Given the description of an element on the screen output the (x, y) to click on. 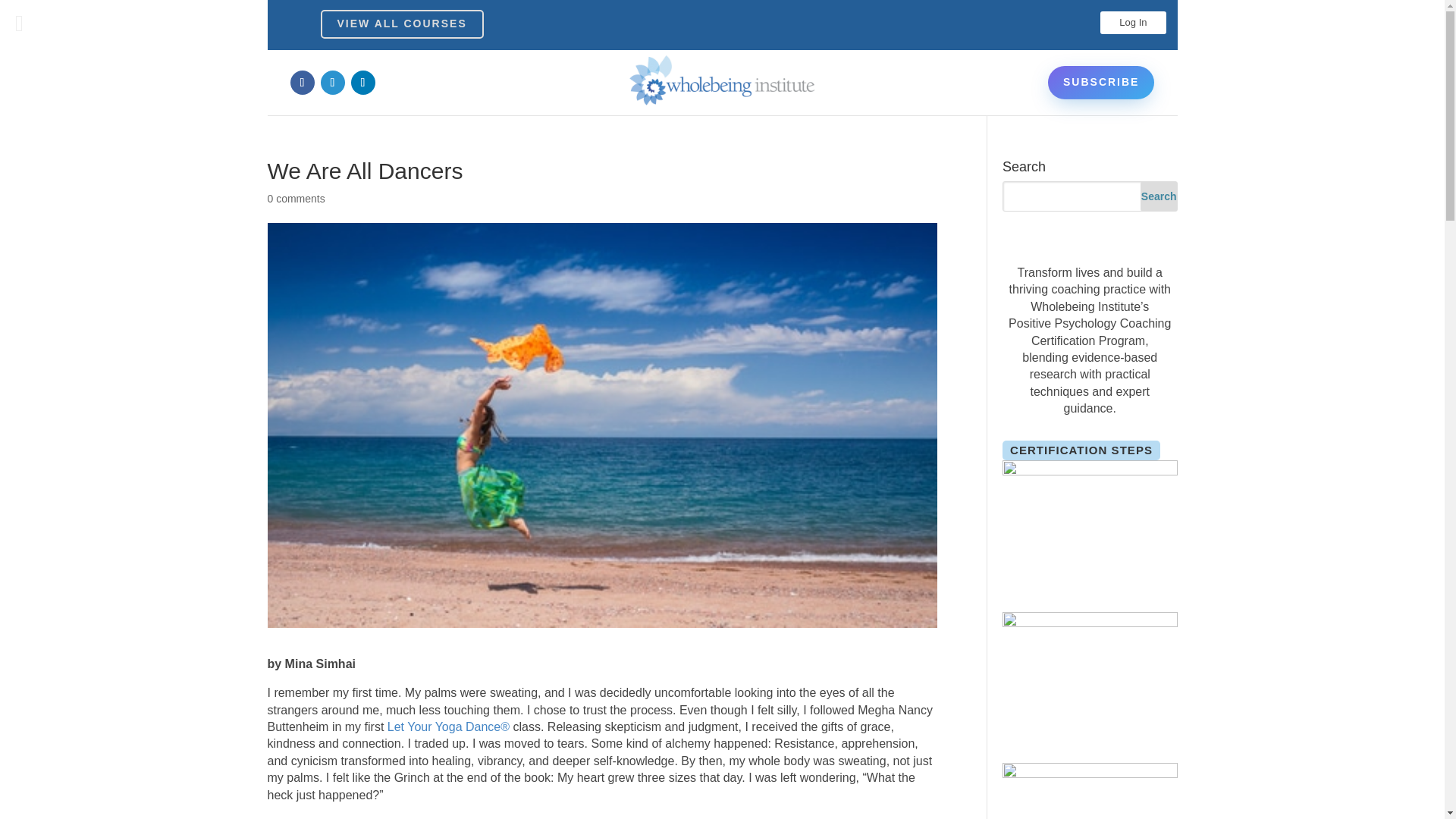
Follow on Facebook (301, 82)
SUBSCRIBE (1101, 82)
Log In (1133, 22)
VIEW ALL COURSES (401, 23)
0 comments (295, 198)
Search (1158, 195)
Follow on LinkedIn (362, 82)
Follow on X (331, 82)
Search (1158, 195)
